Given the description of an element on the screen output the (x, y) to click on. 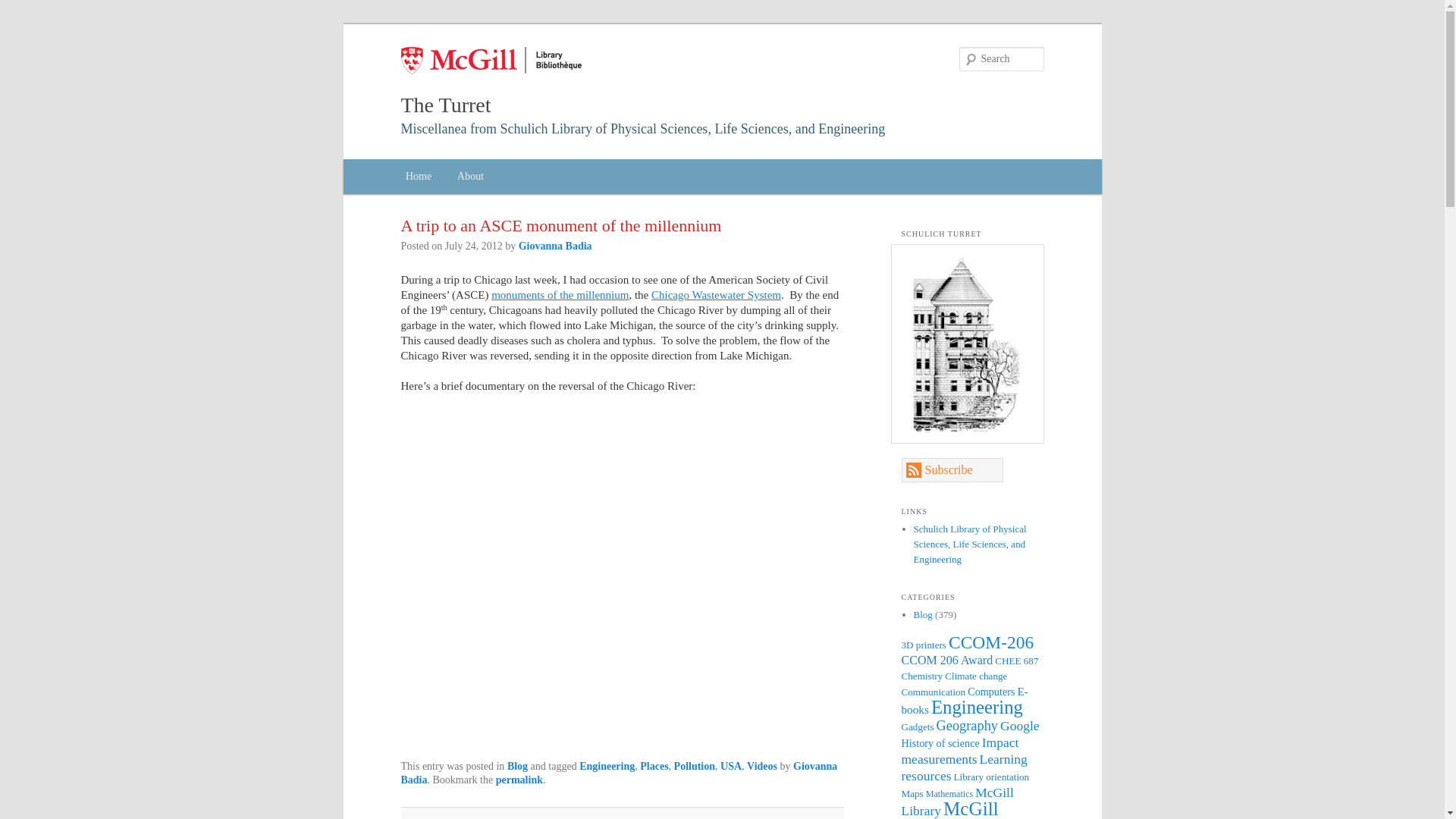
Blog (921, 614)
Search (21, 8)
USA (730, 766)
CCOM 206 Award (946, 659)
CHEE 687 (1016, 660)
Geography (966, 725)
monuments of the millennium (560, 295)
Giovanna Badia (618, 772)
Climate change (975, 675)
Blog (516, 766)
